Given the description of an element on the screen output the (x, y) to click on. 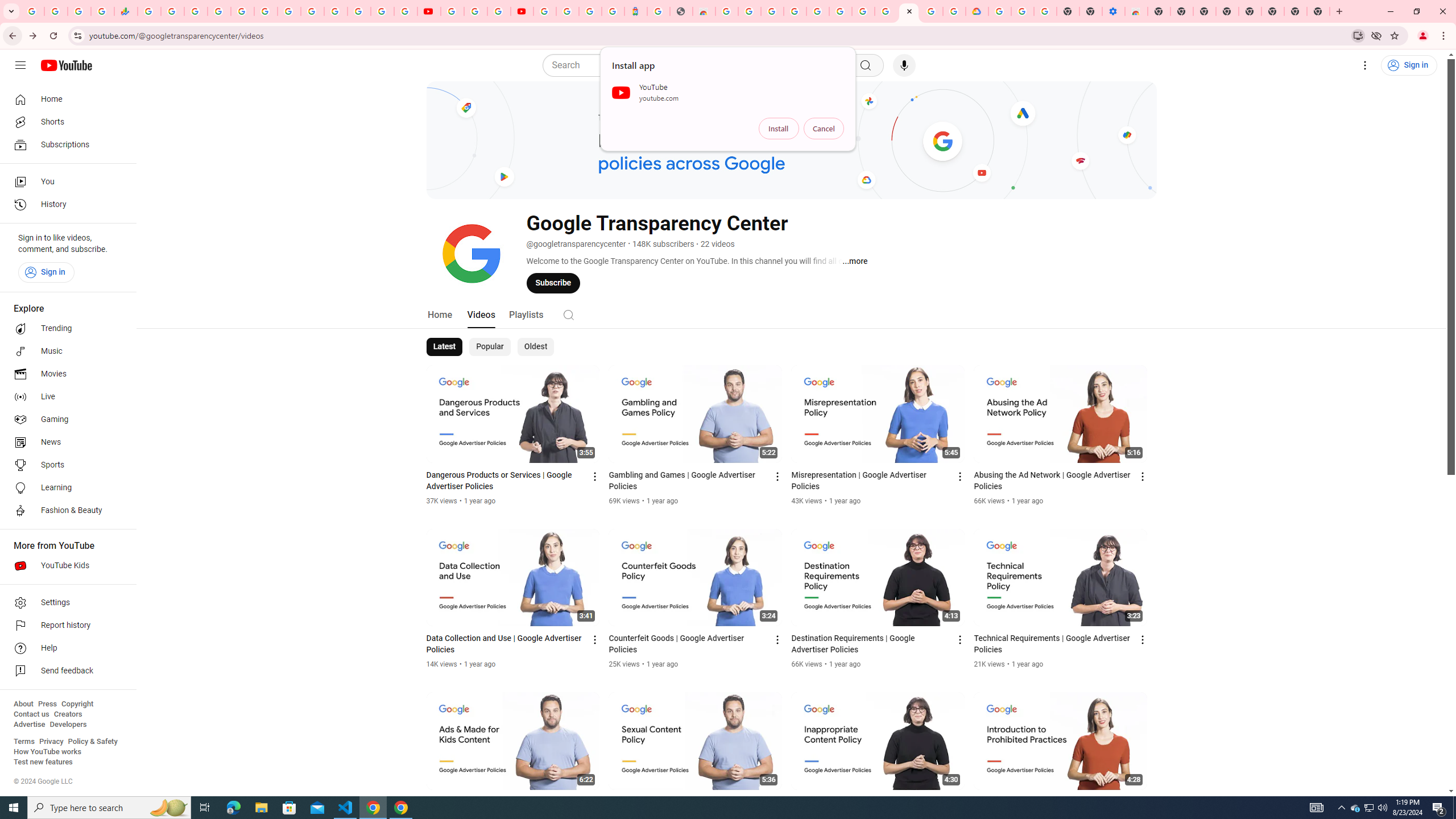
Install (778, 128)
Create your Google Account (749, 11)
Turn cookies on or off - Computer - Google Account Help (1045, 11)
Sign in - Google Accounts (335, 11)
Action menu (1142, 802)
Home (64, 99)
Privacy Checkup (405, 11)
